Given the description of an element on the screen output the (x, y) to click on. 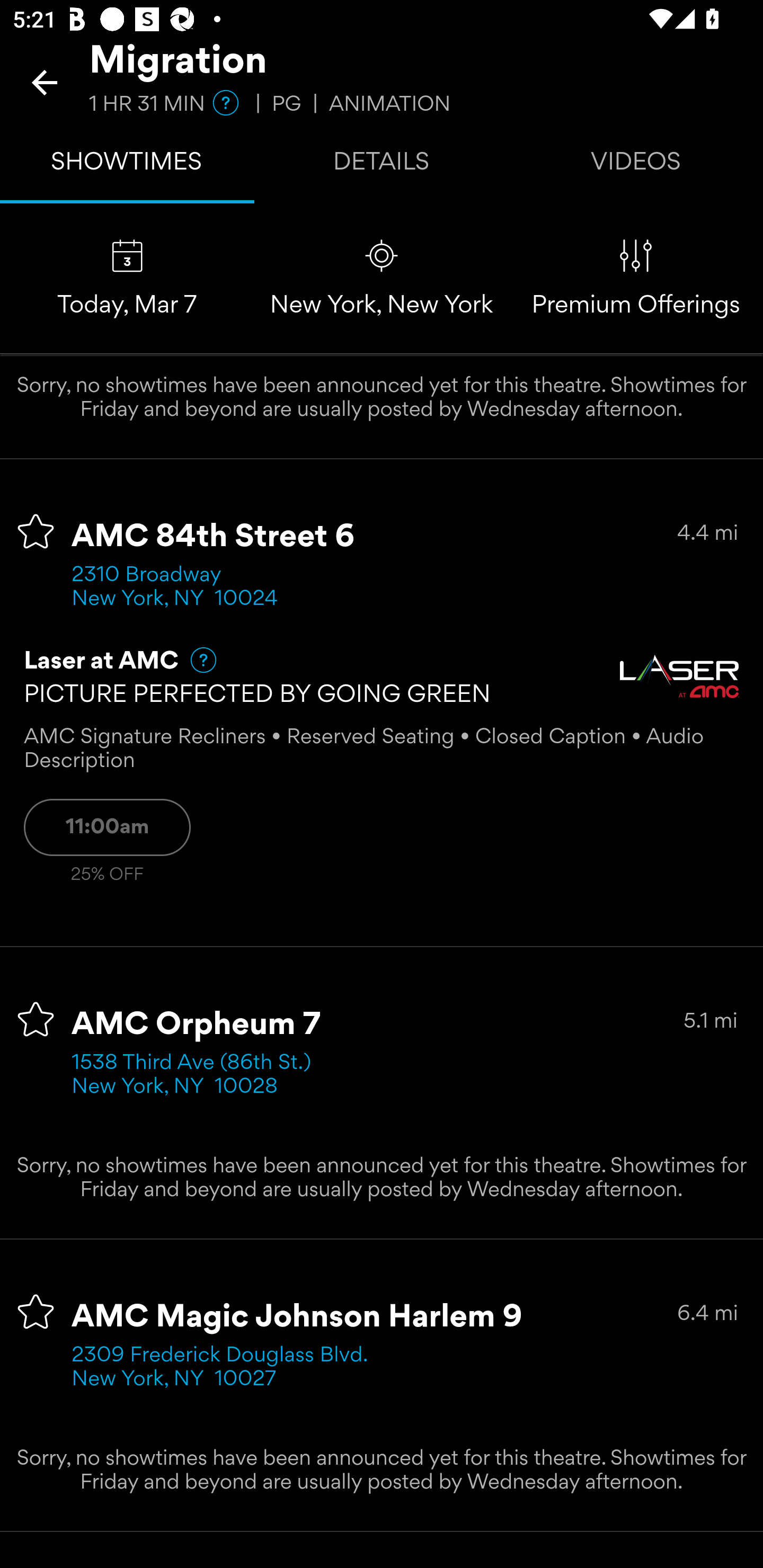
Back (44, 82)
SHOWTIMES
Tab 1 of 3 (127, 165)
DETAILS
Tab 2 of 3 (381, 165)
VIDEOS
Tab 3 of 3 (635, 165)
Change selected day
Today, Mar 7 (127, 279)
Change location
New York, New York (381, 279)
Premium Offerings
Premium Offerings (635, 279)
AMC 84th Street 6 (213, 537)
2310 Broadway  
New York, NY  10024 (174, 586)
Help (195, 659)
AMC Orpheum 7 (196, 1025)
1538 Third Ave (86th St.)  
New York, NY  10028 (196, 1075)
AMC Magic Johnson Harlem 9 (296, 1317)
